Given the description of an element on the screen output the (x, y) to click on. 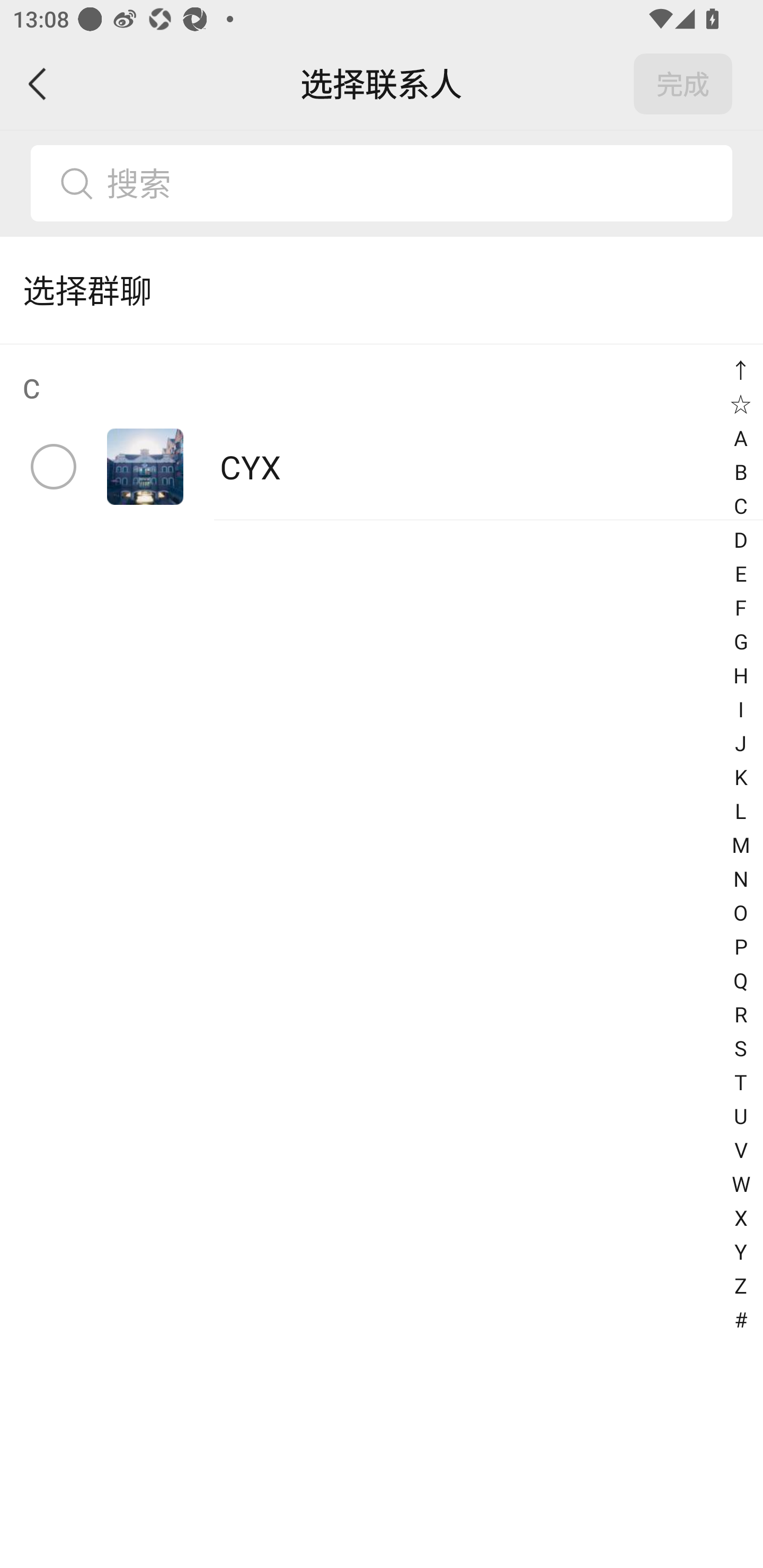
返回 (38, 83)
完成 (683, 83)
搜索 (381, 183)
搜索 (411, 183)
选择群聊 (381, 290)
C CYX (381, 432)
